Given the description of an element on the screen output the (x, y) to click on. 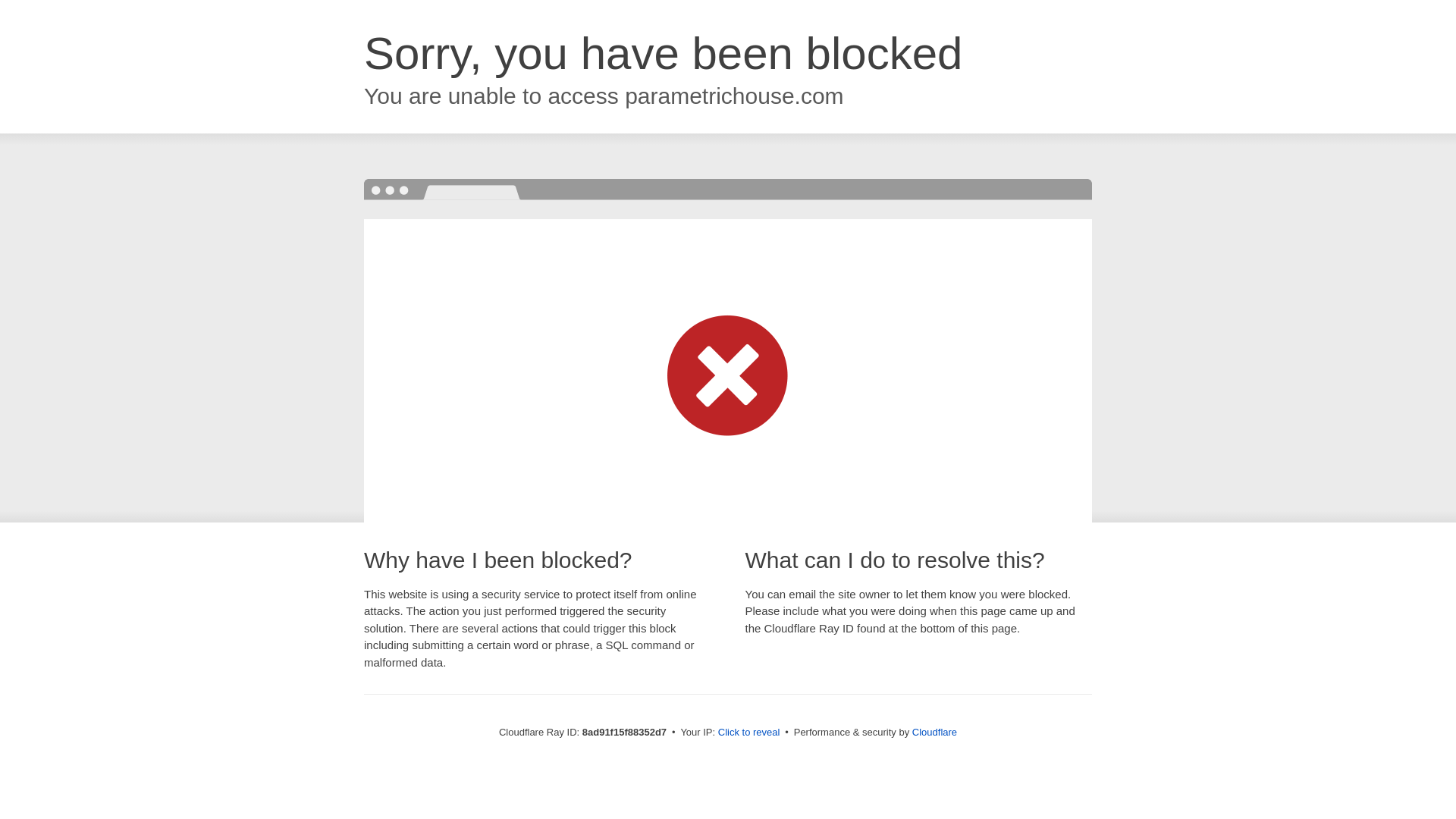
Cloudflare (934, 731)
Click to reveal (748, 732)
